Given the description of an element on the screen output the (x, y) to click on. 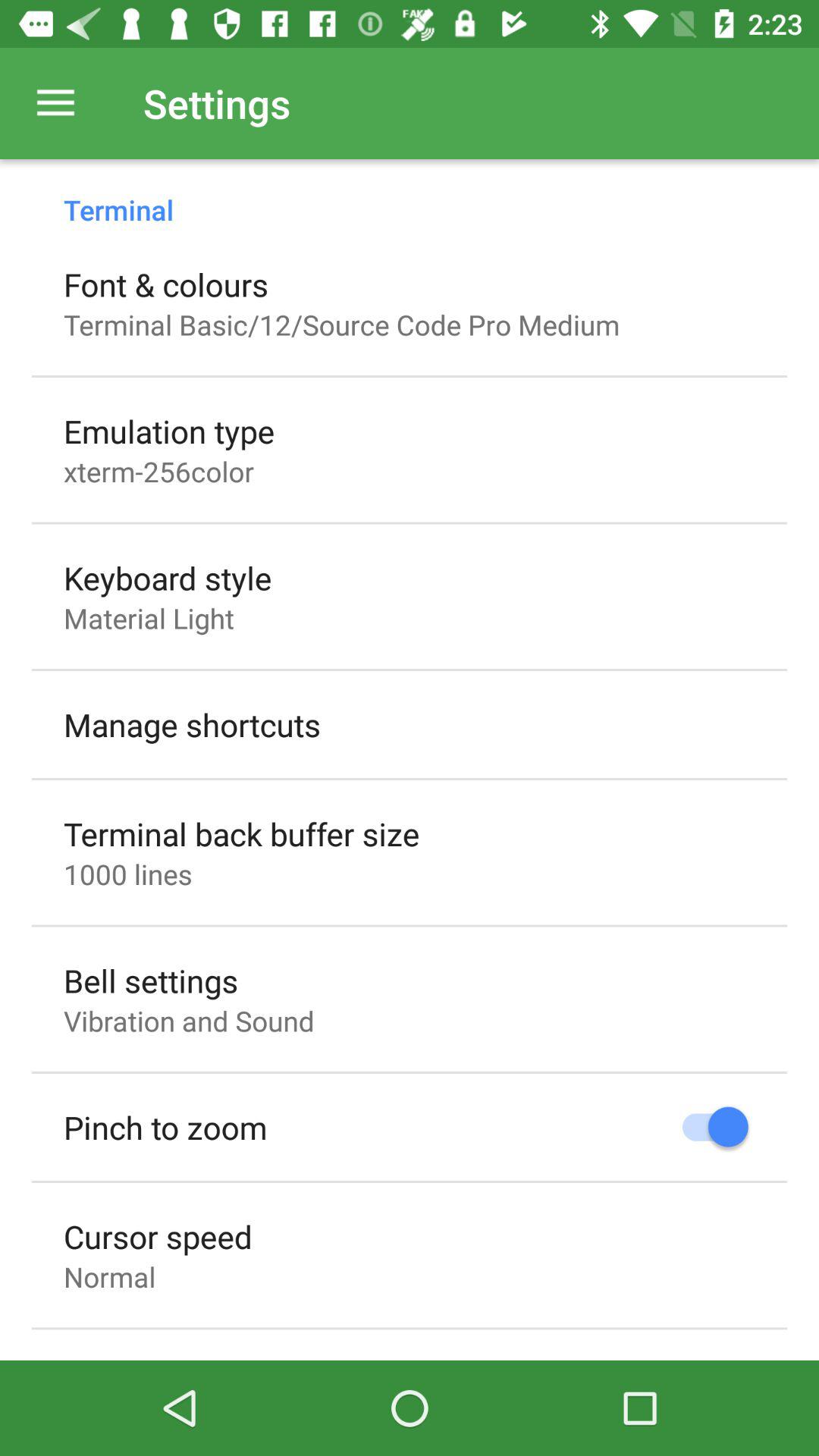
open item below the terminal back buffer icon (127, 873)
